Given the description of an element on the screen output the (x, y) to click on. 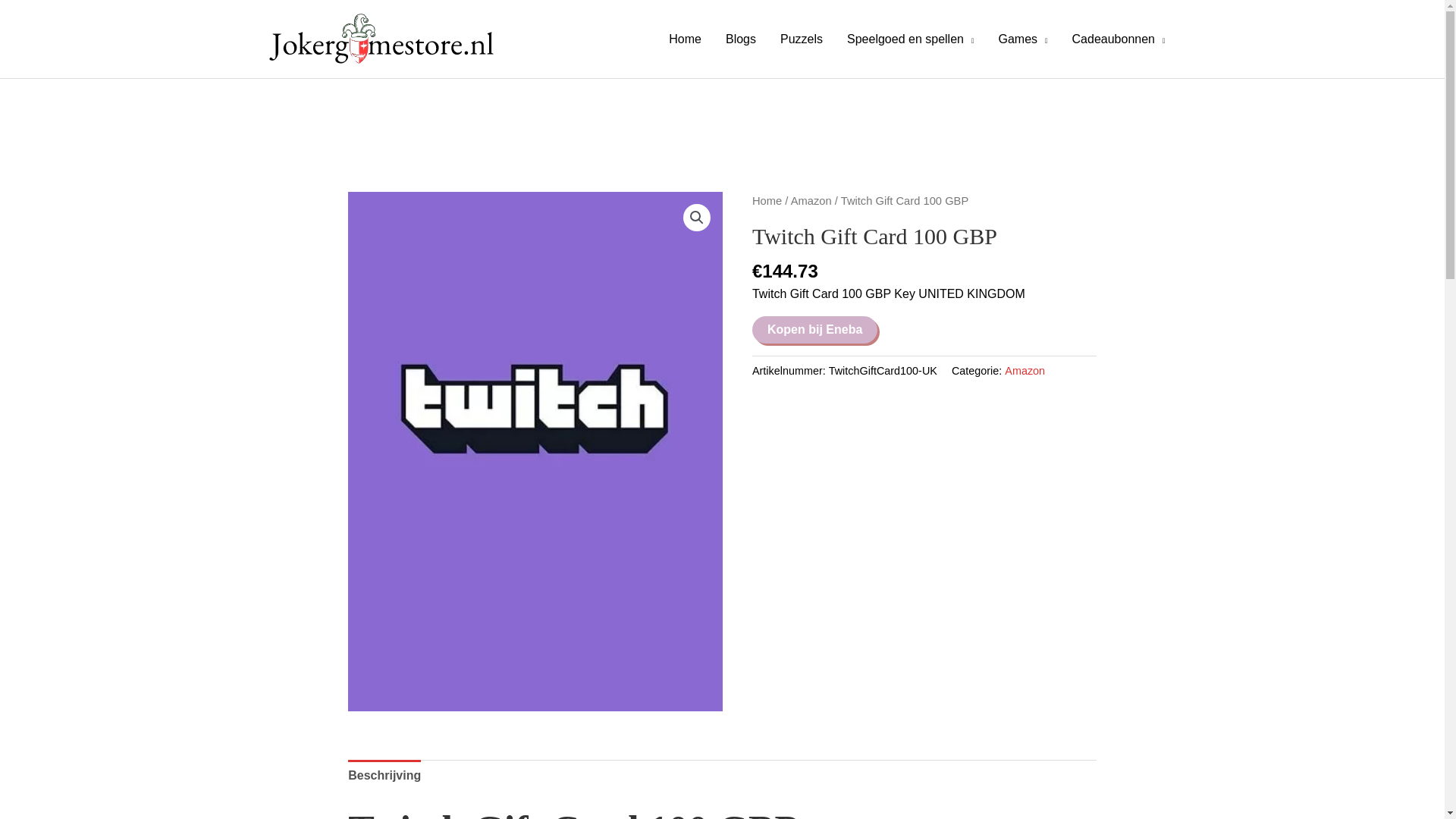
Kopen bij Eneba (814, 329)
Home (766, 200)
Speelgoed en spellen (909, 39)
Beschrijving (383, 775)
Amazon (810, 200)
Puzzels (801, 39)
Games (1022, 39)
Blogs (740, 39)
Home (684, 39)
Cadeaubonnen (1118, 39)
